Given the description of an element on the screen output the (x, y) to click on. 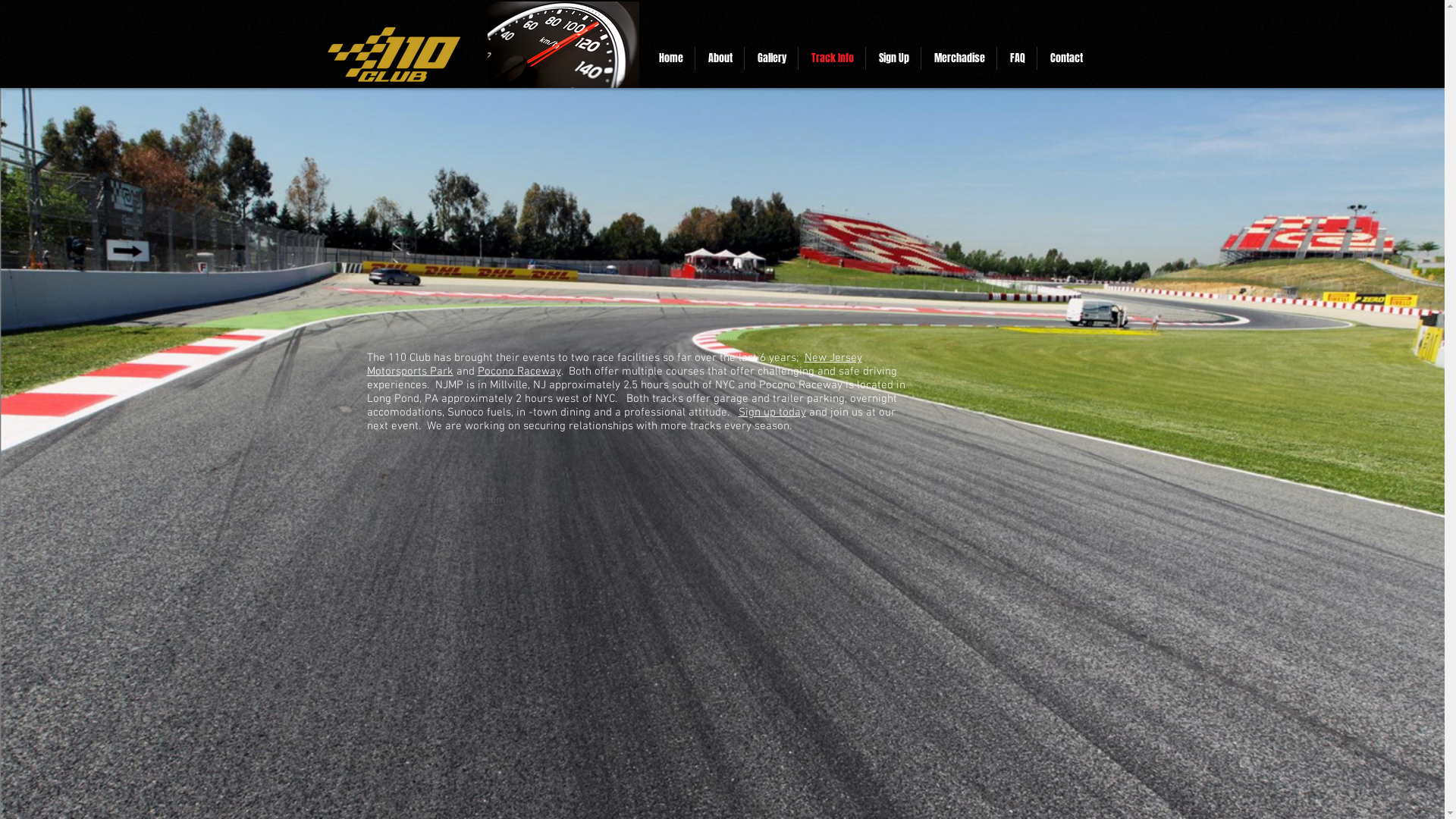
FAQ Element type: text (1015, 58)
Home Element type: text (670, 58)
Wix.com Element type: text (485, 499)
Merchadise Element type: text (957, 58)
Pocono Raceway Element type: text (519, 371)
Contact Element type: text (1065, 58)
New Jersey Motorsports Park Element type: text (614, 364)
Sign up today Element type: text (772, 412)
Track Info Element type: text (830, 58)
Gallery Element type: text (770, 58)
Sign Up Element type: text (893, 58)
About Element type: text (718, 58)
